Given the description of an element on the screen output the (x, y) to click on. 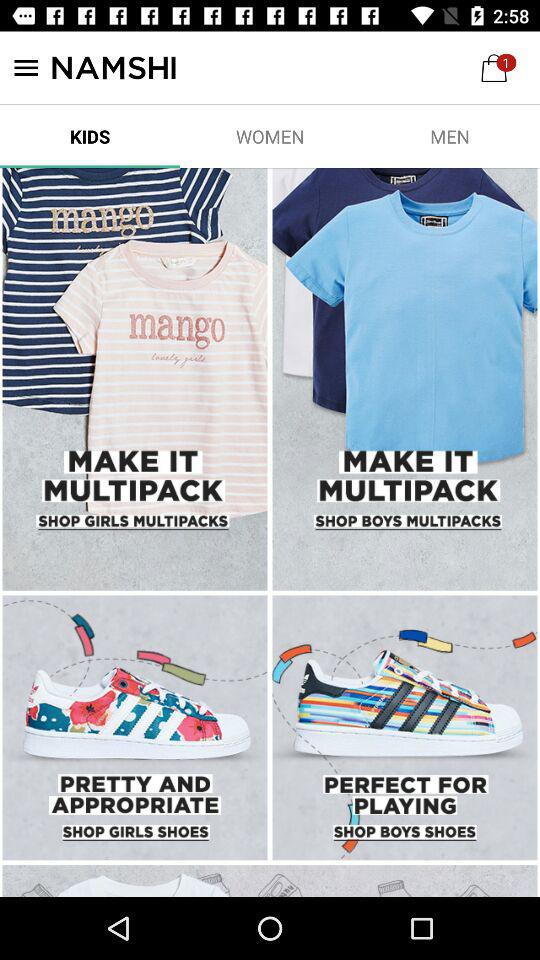
choose the icon to the right of the women icon (450, 136)
